Given the description of an element on the screen output the (x, y) to click on. 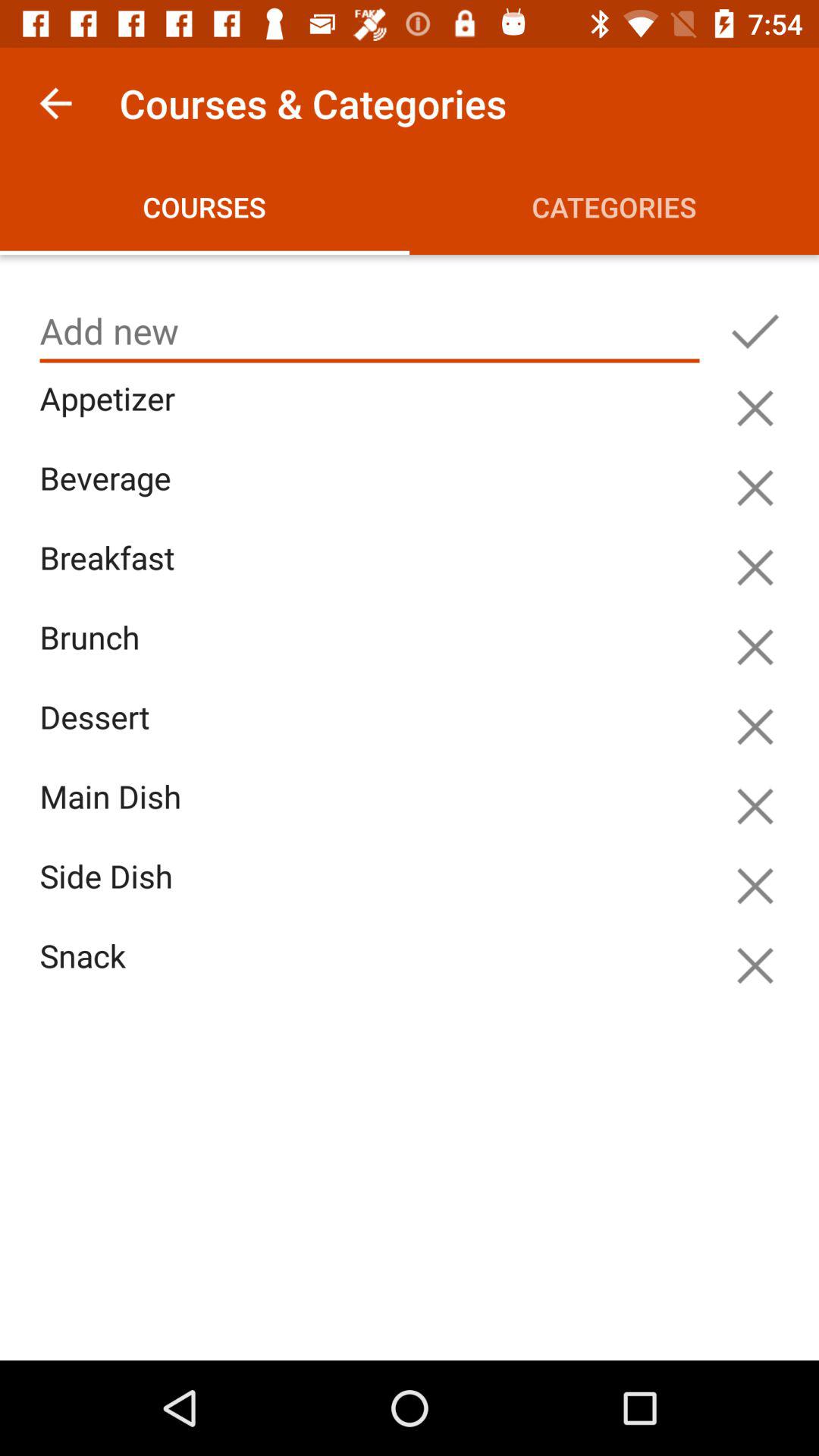
delete course (755, 726)
